Given the description of an element on the screen output the (x, y) to click on. 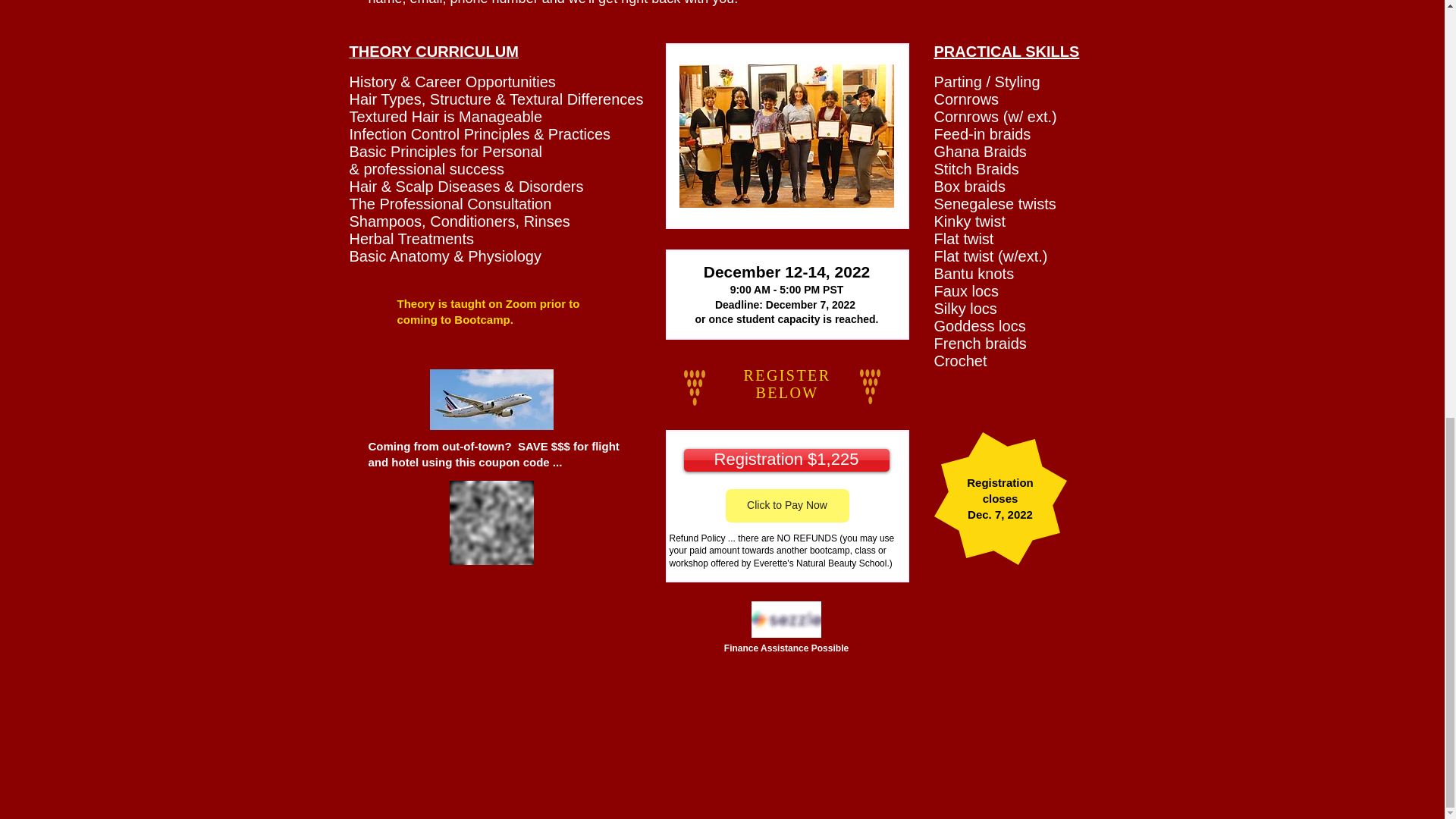
Click to Pay Now (786, 505)
